Given the description of an element on the screen output the (x, y) to click on. 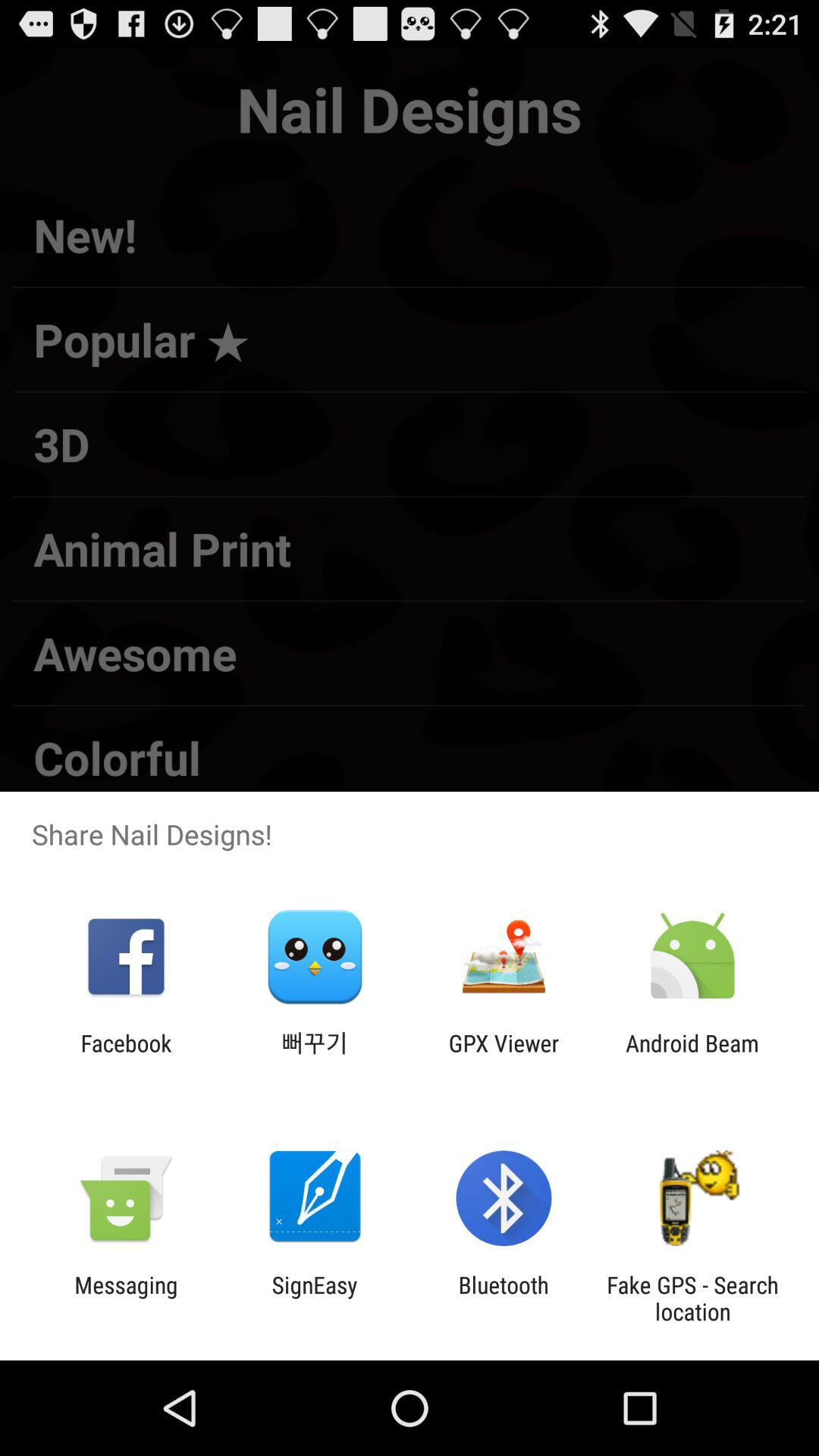
choose the fake gps search item (692, 1298)
